Given the description of an element on the screen output the (x, y) to click on. 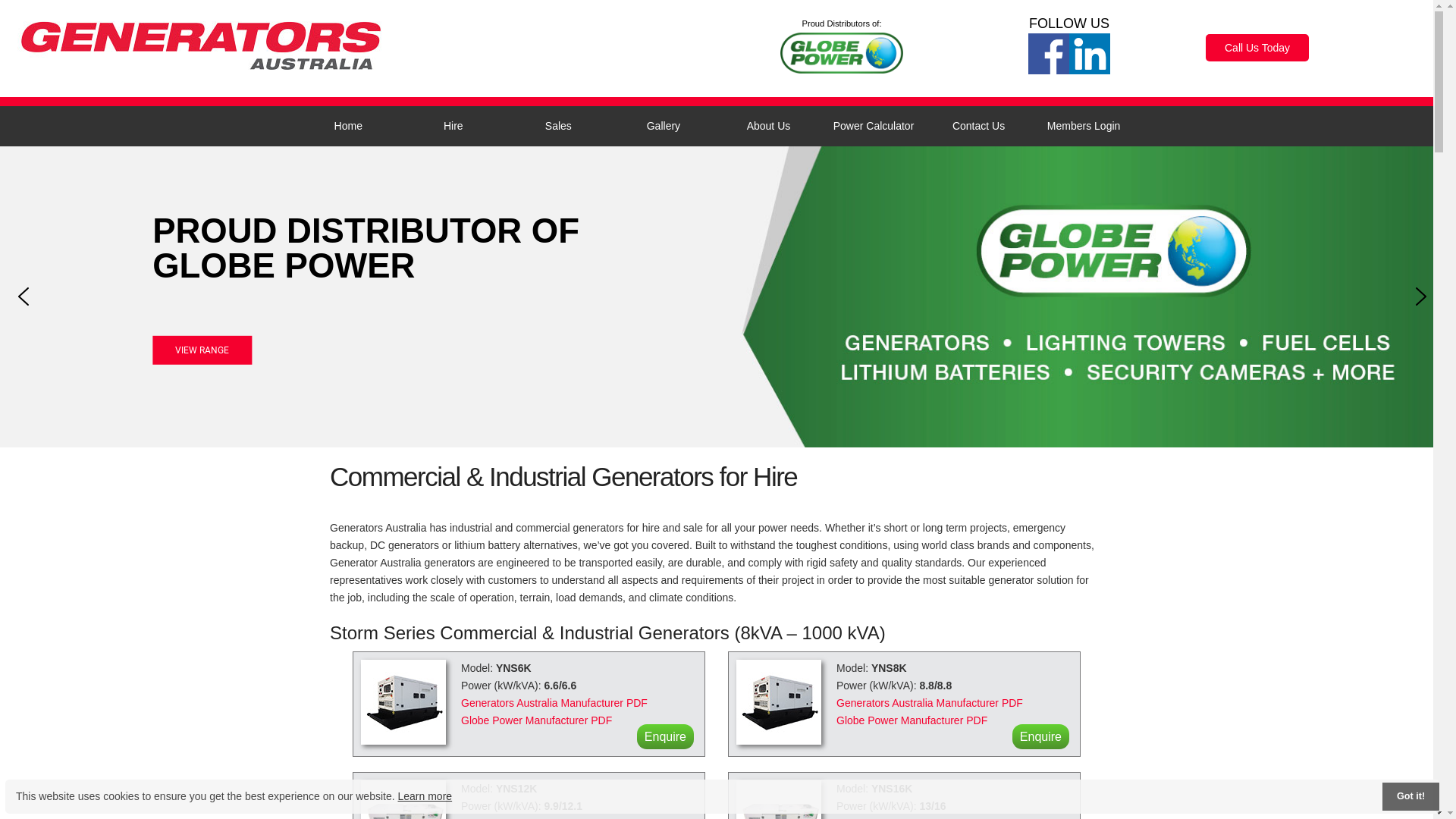
Contact Us Element type: text (978, 126)
Call Us Today Element type: text (1256, 47)
Hire Element type: text (453, 126)
FOLLOW US Element type: text (1069, 23)
Got it! Element type: text (1410, 796)
Gallery Element type: text (663, 126)
Generators Australia - Home Element type: hover (200, 47)
Generators Australia Manufacturer PDF Element type: text (929, 702)
Globe Power Element type: hover (841, 51)
Globe Power Manufacturer PDF Element type: text (536, 720)
Members Login Element type: text (1083, 126)
About Us Element type: text (768, 126)
Home Element type: text (348, 126)
Enquire Element type: text (665, 736)
Power Calculator Element type: text (873, 126)
Sales Element type: text (558, 126)
Learn more Element type: text (425, 796)
Generators Australia Manufacturer PDF Element type: text (554, 702)
Enquire Element type: text (1040, 736)
OUR GLOBE POWER PRODUCT RANGE Element type: text (411, 247)
Globe Power Manufacturer PDF Element type: text (911, 720)
VIEW RANGE Element type: text (204, 349)
